Given the description of an element on the screen output the (x, y) to click on. 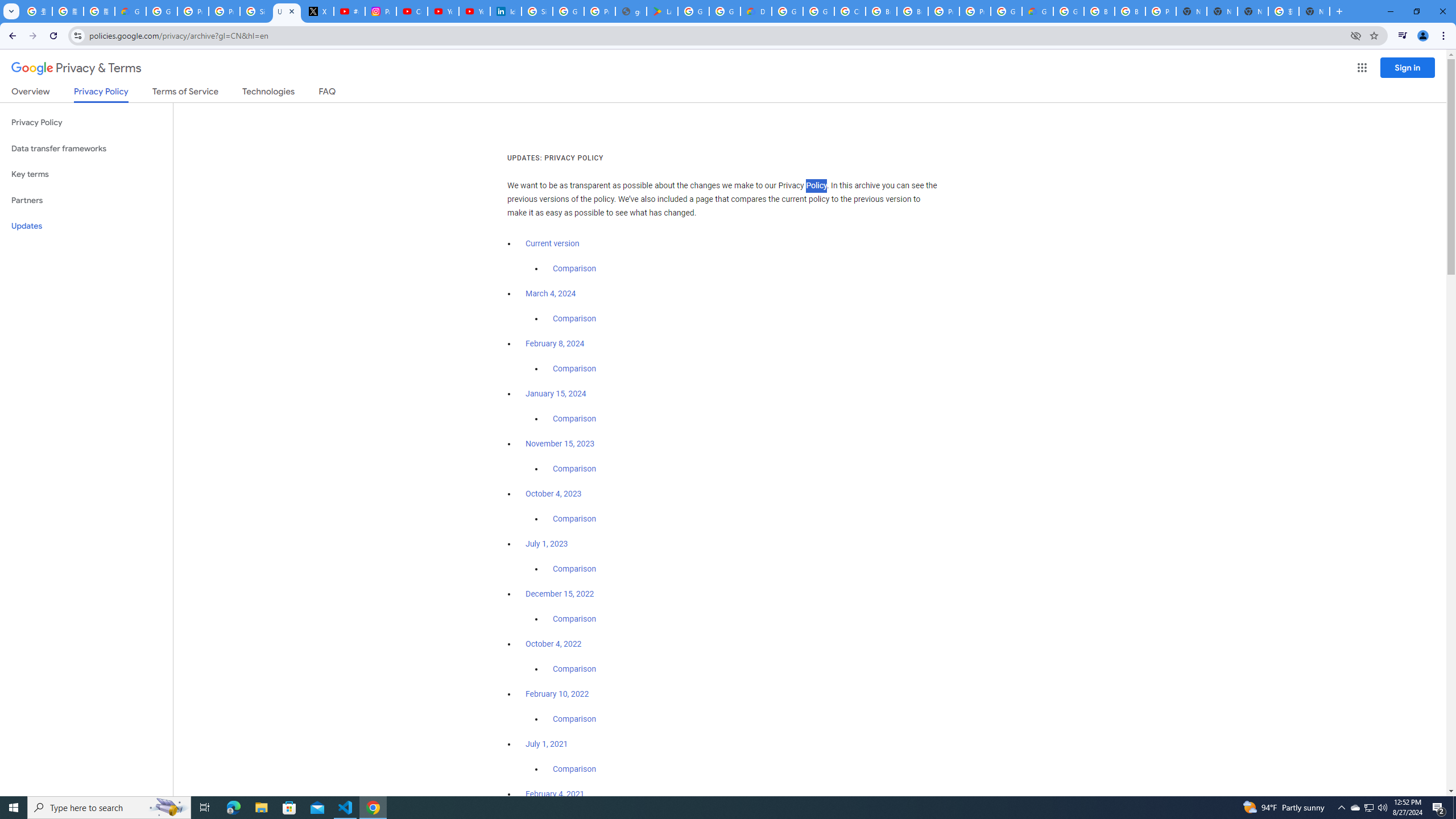
Partners (86, 199)
Sign in - Google Accounts (536, 11)
July 1, 2021 (546, 743)
New Tab (1314, 11)
